Given the description of an element on the screen output the (x, y) to click on. 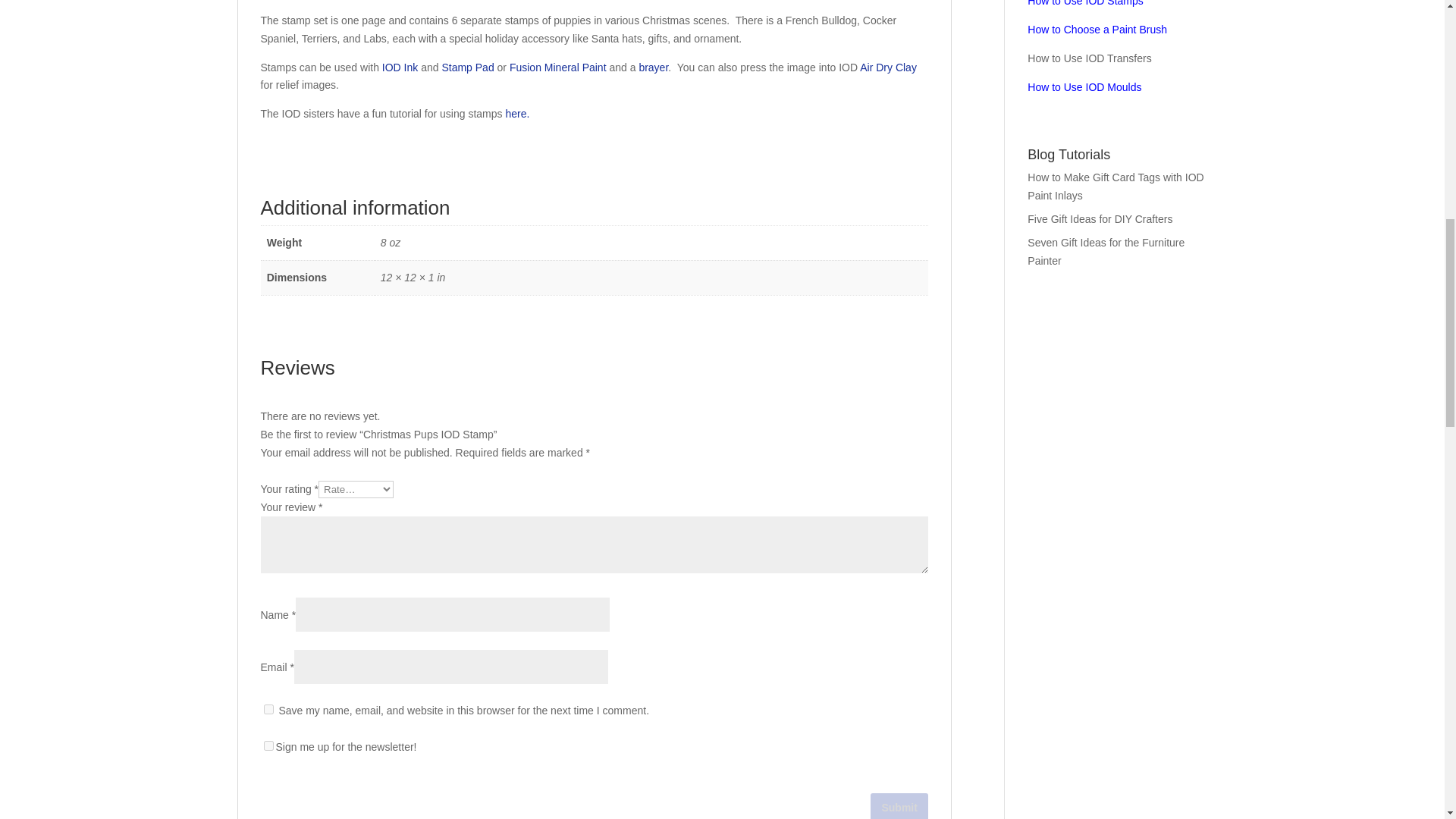
brayer (653, 67)
Stamp Pad (467, 67)
How to Use IOD Stamps (1084, 3)
Fusion Mineral Paint (558, 67)
1 (268, 746)
How to Use IOD Transfers (1089, 58)
here.   (520, 113)
How to Choose a Paint Brush (1097, 29)
Air Dry Clay (888, 67)
IOD Ink (399, 67)
